Given the description of an element on the screen output the (x, y) to click on. 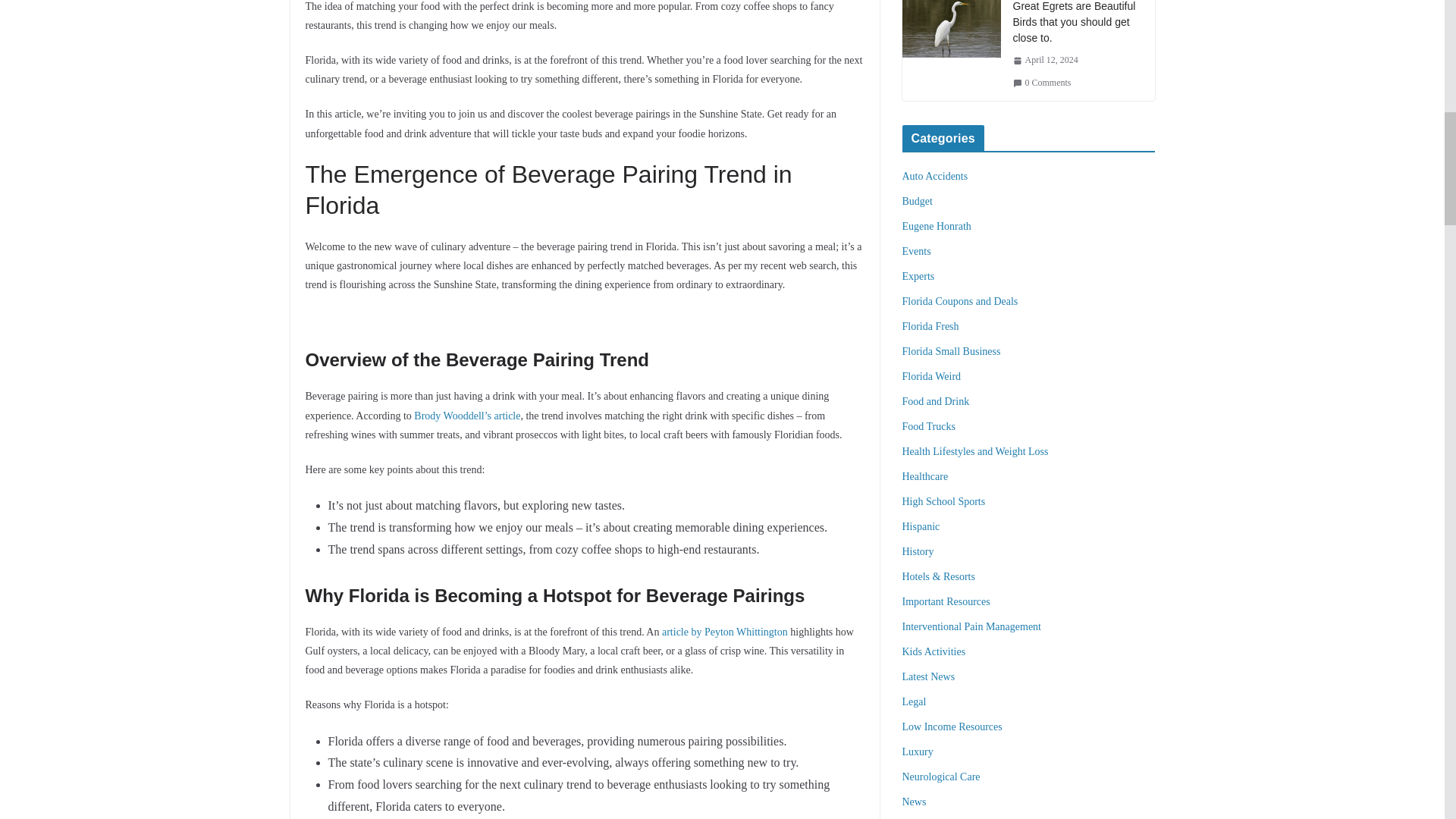
article by Peyton Whittington (724, 632)
